Given the description of an element on the screen output the (x, y) to click on. 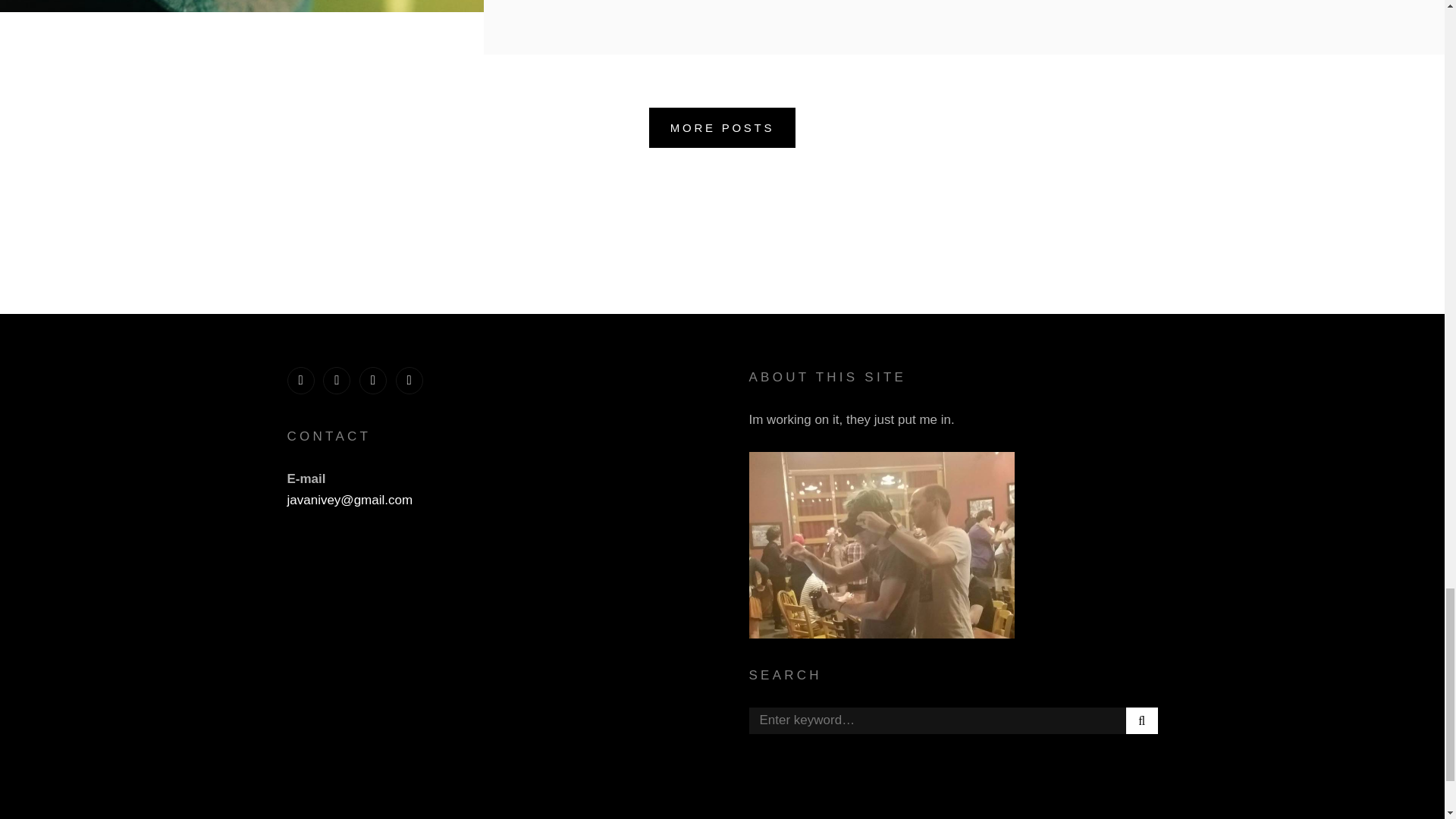
Vimeo (373, 379)
Email (409, 379)
SEARCH (1141, 720)
Instagram (336, 379)
Twitter (300, 379)
MORE POSTS (722, 127)
